Given the description of an element on the screen output the (x, y) to click on. 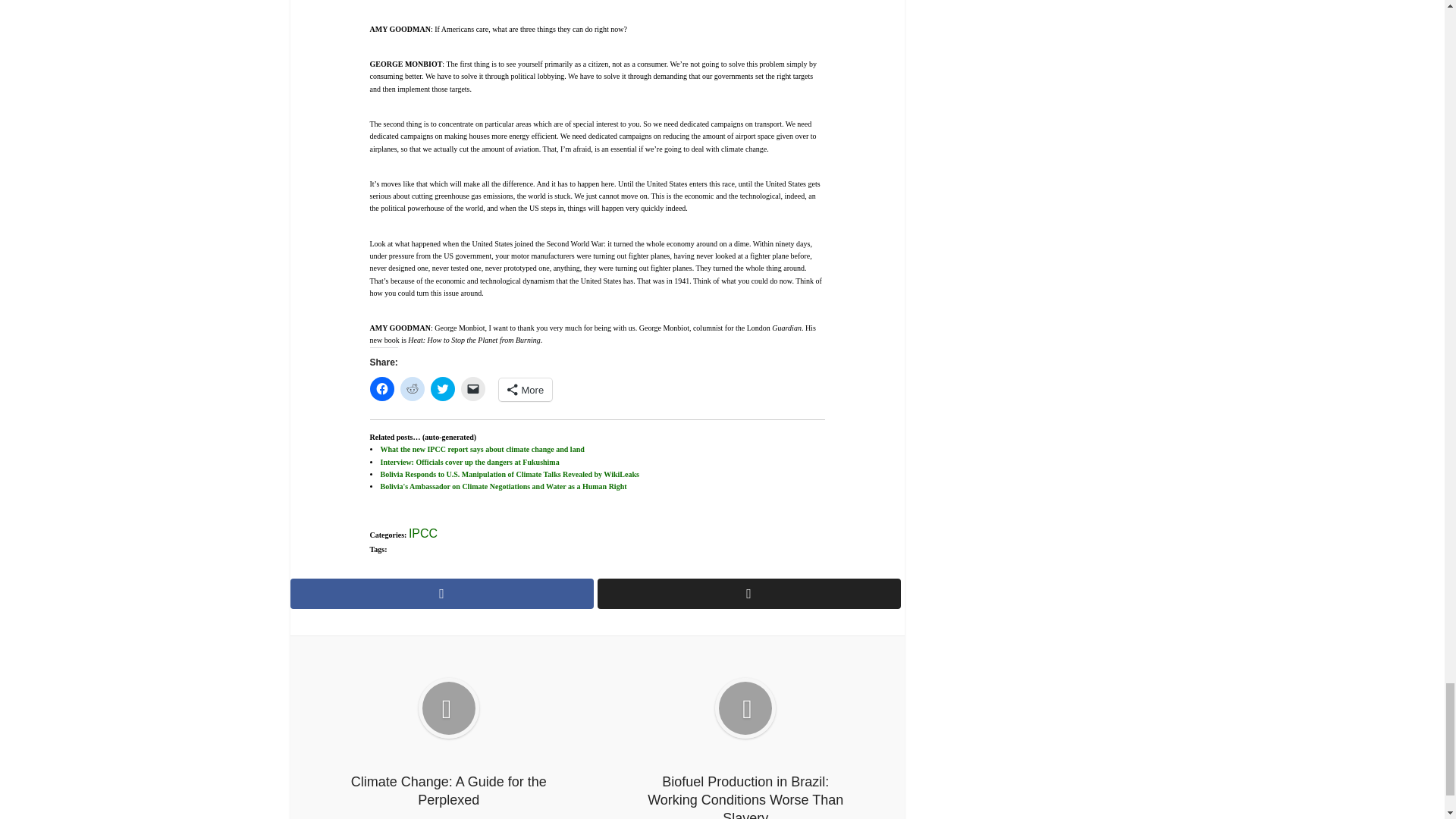
IPCC (423, 533)
Click to email a link to a friend (472, 388)
Click to share on Facebook (381, 388)
Click to share on Reddit (412, 388)
Interview: Officials cover up the dangers at Fukushima (469, 461)
What the new IPCC report says about climate change and land (482, 449)
Click to share on Twitter (442, 388)
What the new IPCC report says about climate change and land (482, 449)
